Given the description of an element on the screen output the (x, y) to click on. 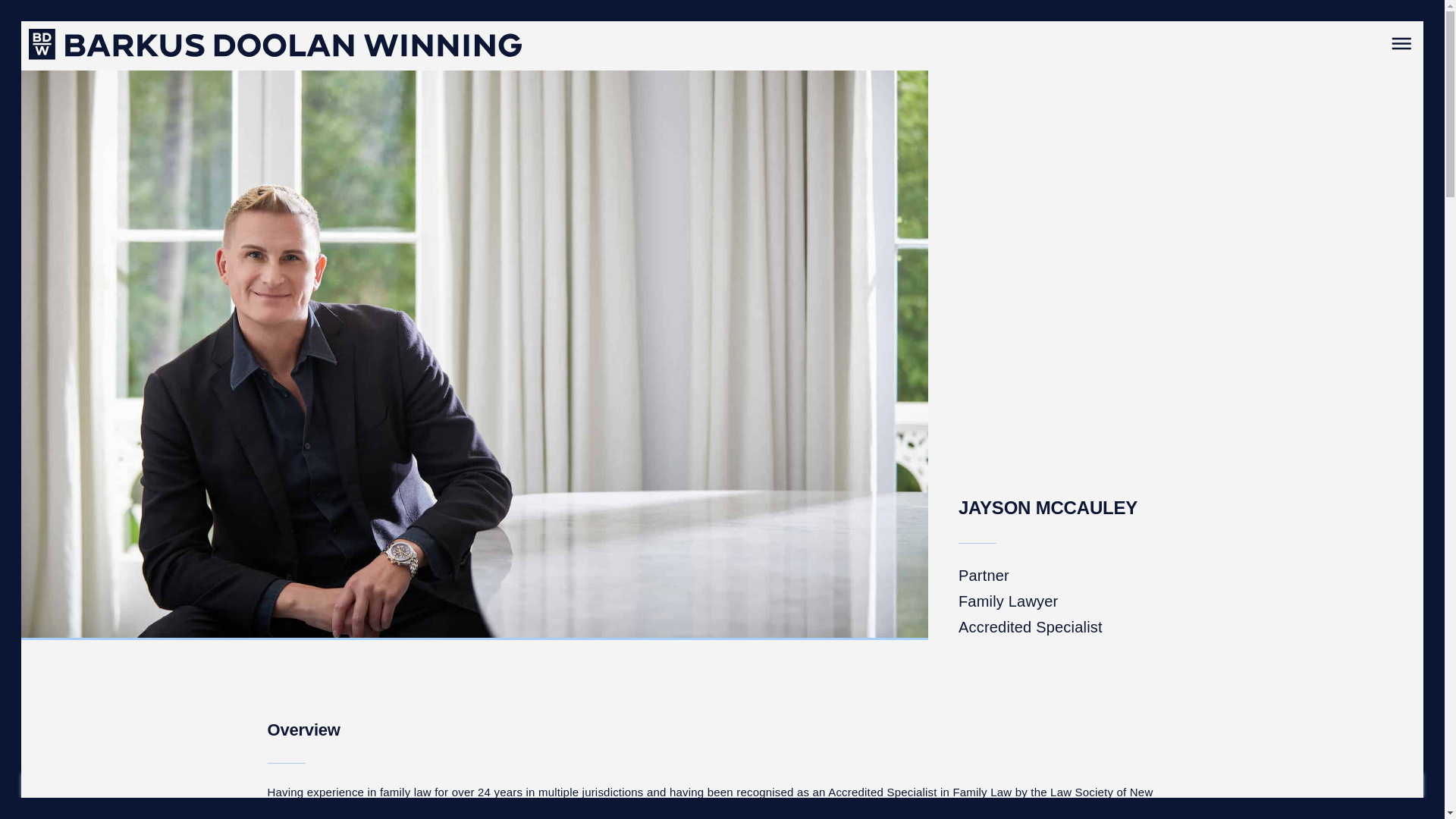
MEMBERSHIPS (778, 786)
AWARDS (600, 786)
QUALIFICATIONS (881, 786)
OVERVIEW (531, 786)
PUBLICATIONS (680, 786)
